Given the description of an element on the screen output the (x, y) to click on. 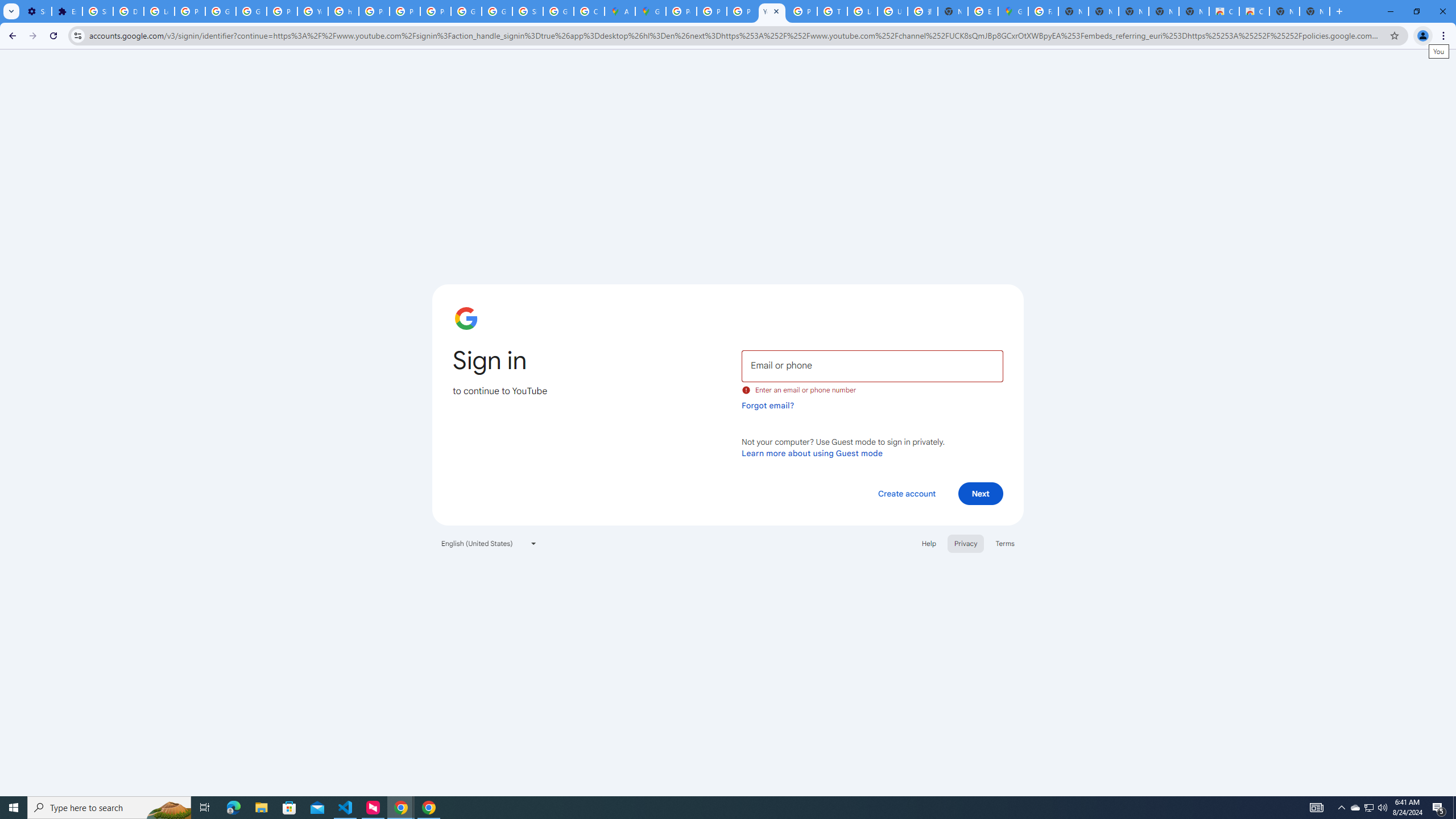
Create account (905, 493)
Policy Accountability and Transparency - Transparency Center (681, 11)
Learn how to find your photos - Google Photos Help (158, 11)
Tips & tricks for Chrome - Google Chrome Help (832, 11)
Sign in - Google Accounts (527, 11)
New Tab (1314, 11)
Learn more about using Guest mode (812, 452)
Email or phone (871, 365)
